Given the description of an element on the screen output the (x, y) to click on. 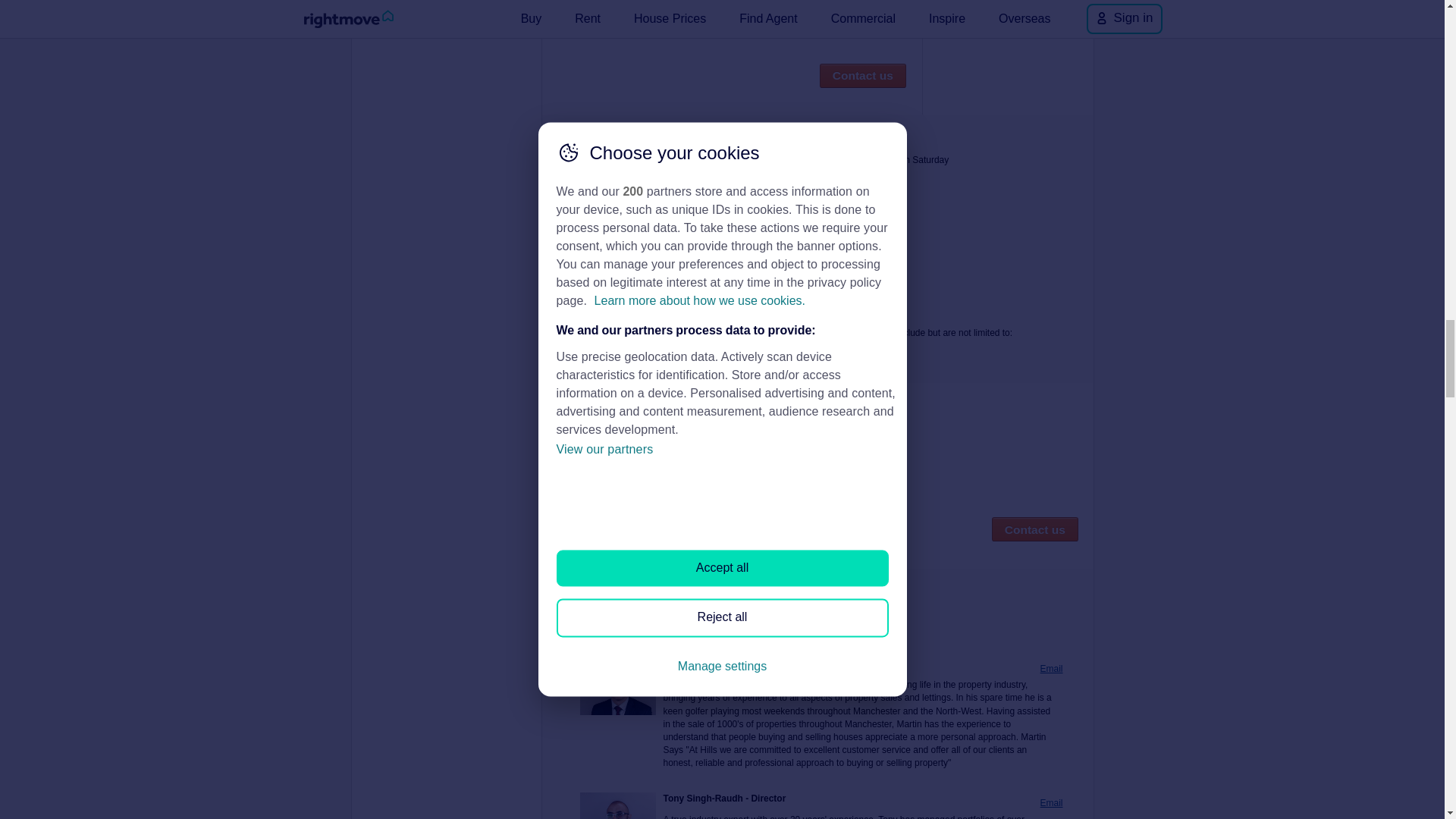
Email (1051, 668)
Email (1051, 802)
